Given the description of an element on the screen output the (x, y) to click on. 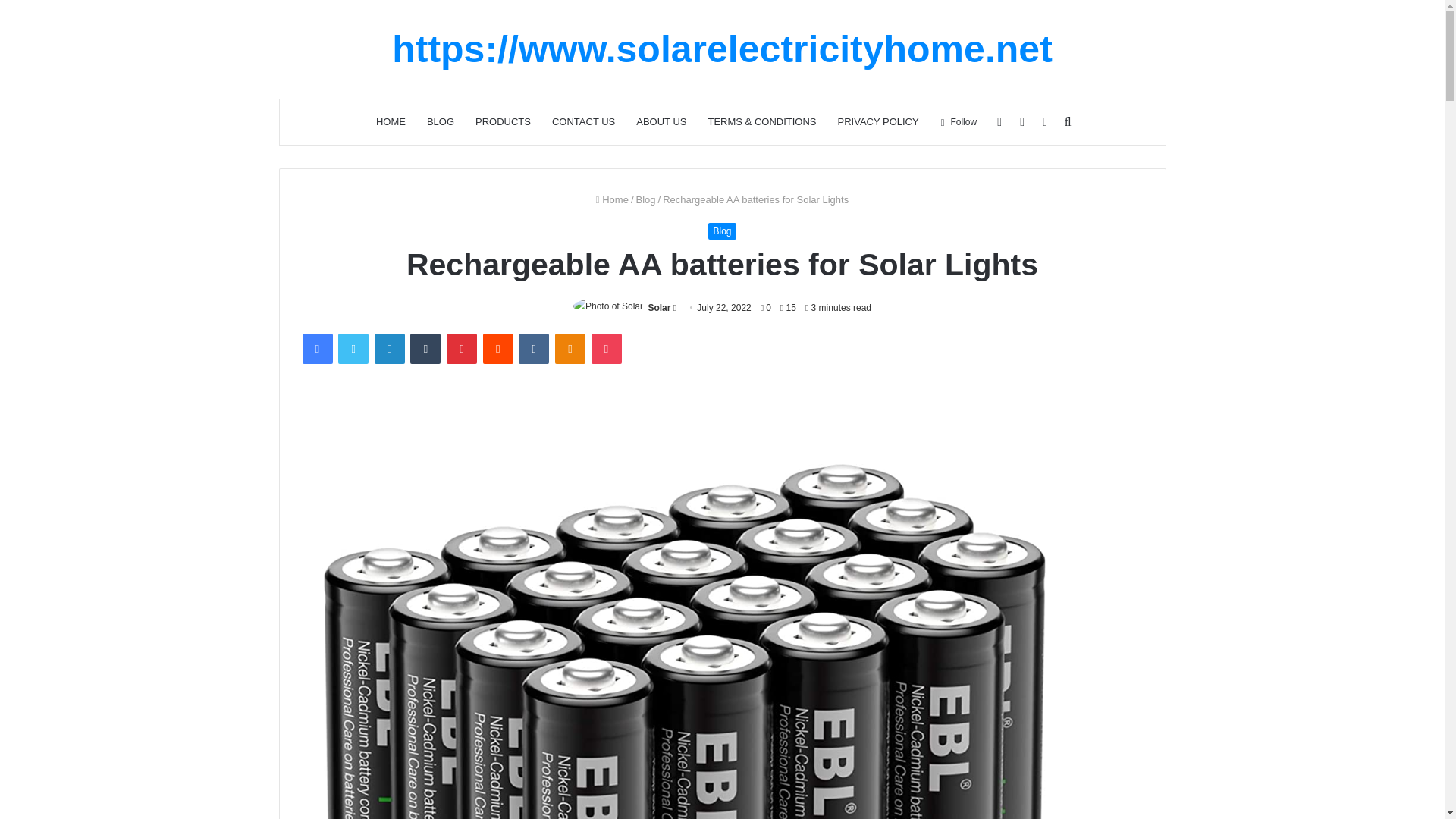
LinkedIn (389, 348)
Odnoklassniki (569, 348)
Pinterest (461, 348)
Odnoklassniki (569, 348)
Facebook (316, 348)
Solar (658, 307)
Reddit (498, 348)
Solar (658, 307)
Home (611, 199)
Twitter (352, 348)
